Given the description of an element on the screen output the (x, y) to click on. 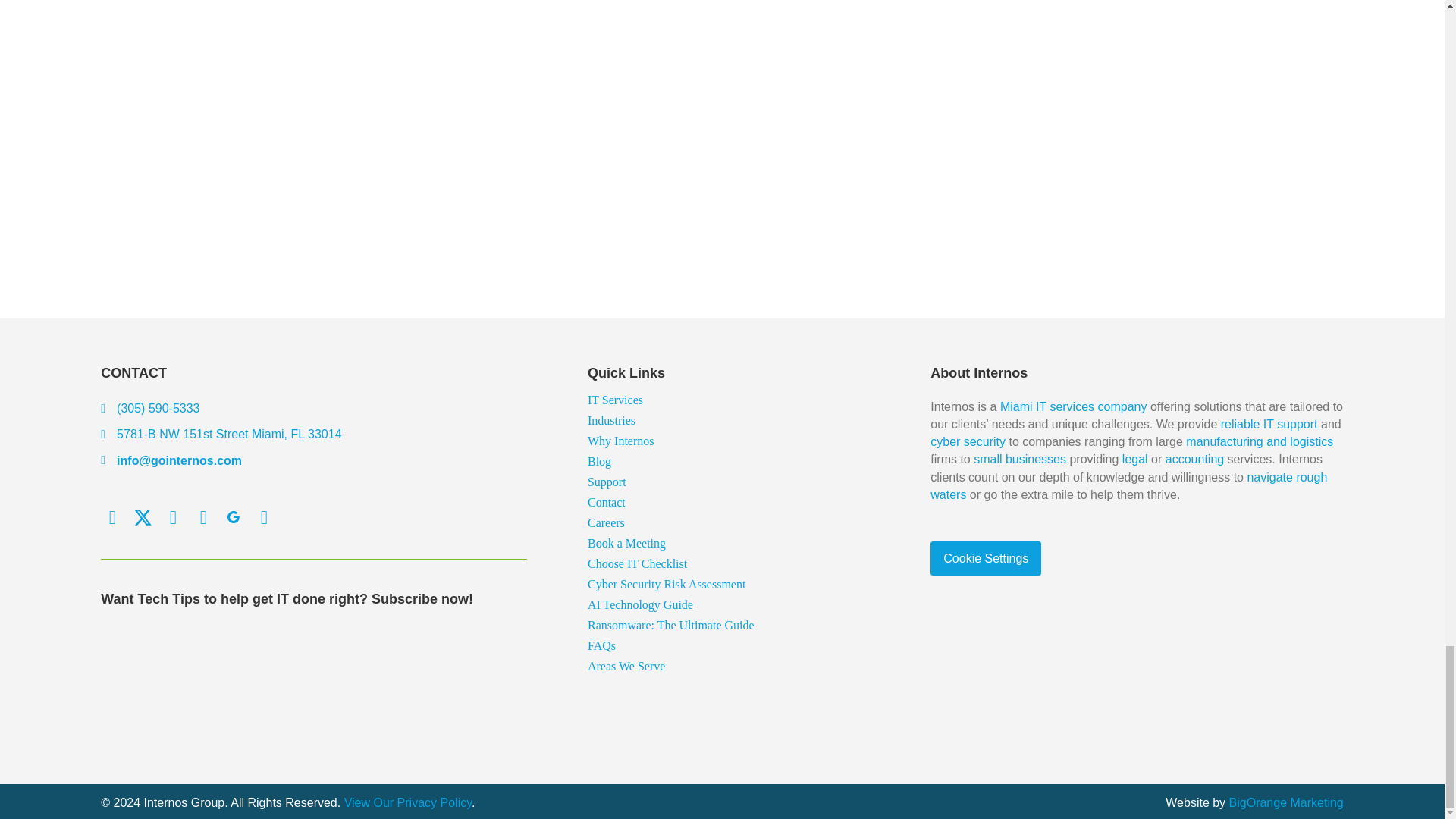
Facebook (111, 517)
Form 0 (313, 681)
Instagram (203, 517)
LinkedIn (172, 517)
YouTube (263, 517)
